Given the description of an element on the screen output the (x, y) to click on. 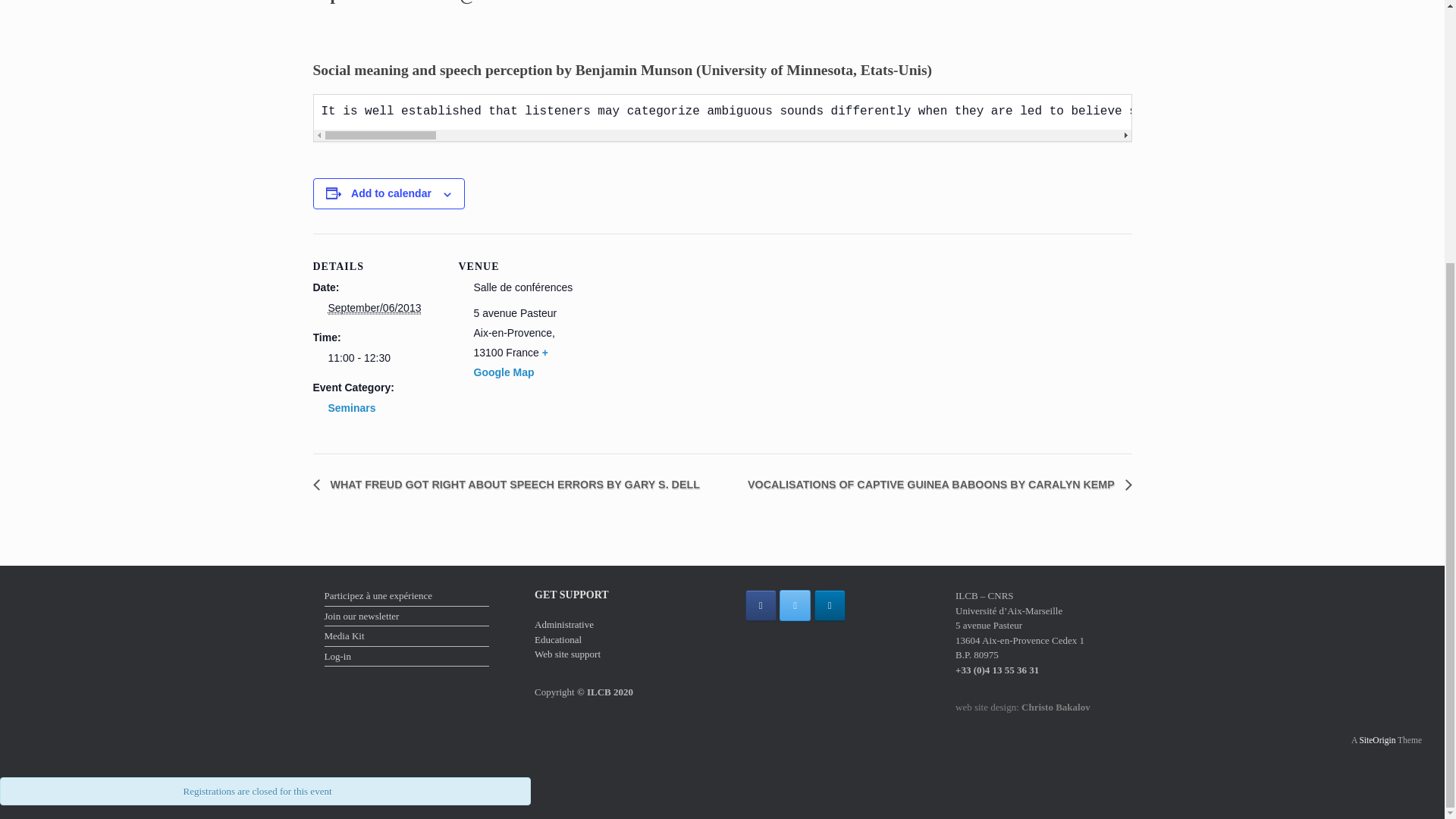
Click to view a Google Map (510, 362)
ILCB on Facebook (760, 604)
2013-09-06 (373, 308)
ILCB on X Twitter (794, 604)
ILCB on Linkedin (829, 604)
2013-09-06 (383, 357)
